Given the description of an element on the screen output the (x, y) to click on. 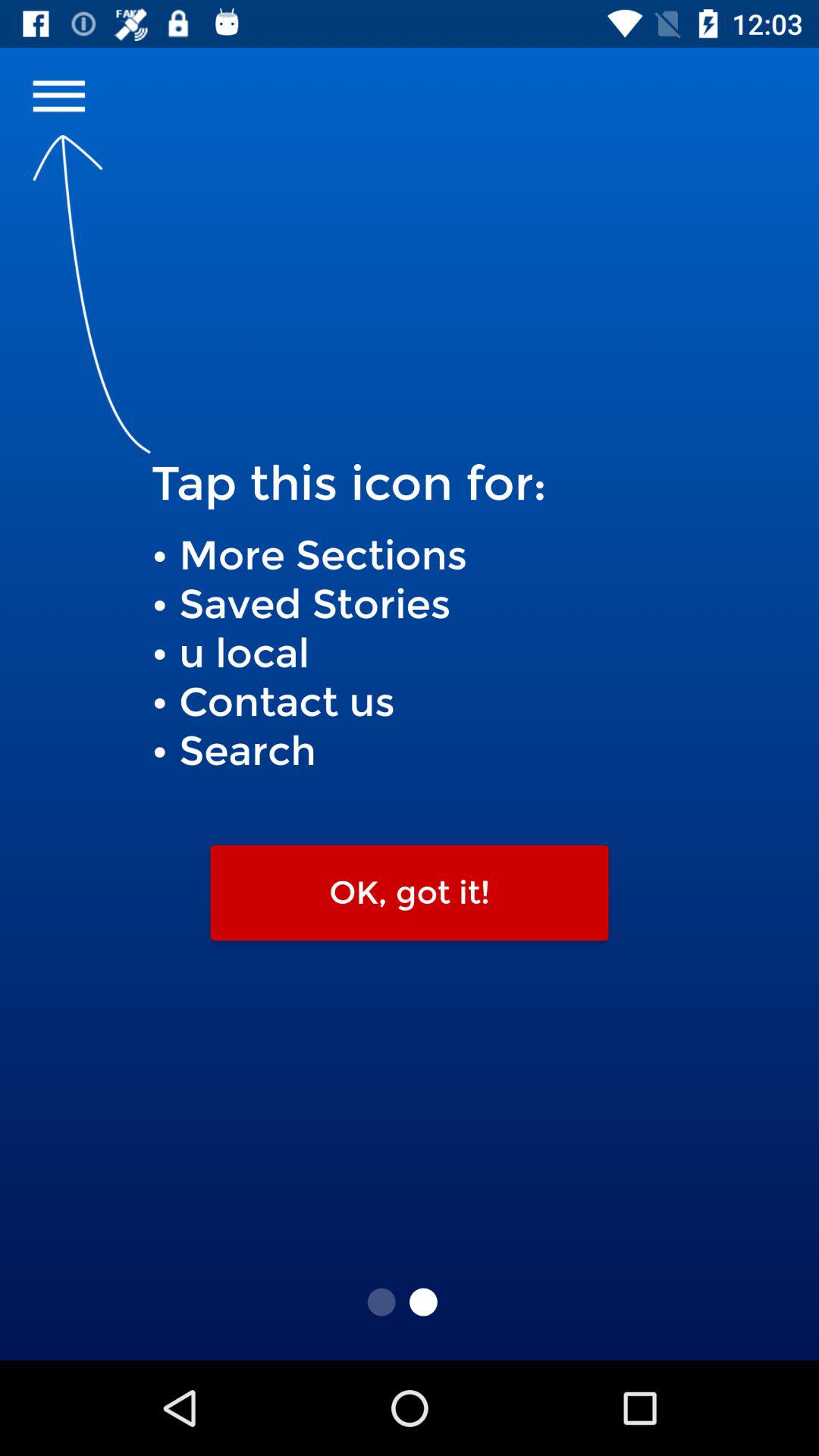
flip until ok, got it! item (409, 892)
